Given the description of an element on the screen output the (x, y) to click on. 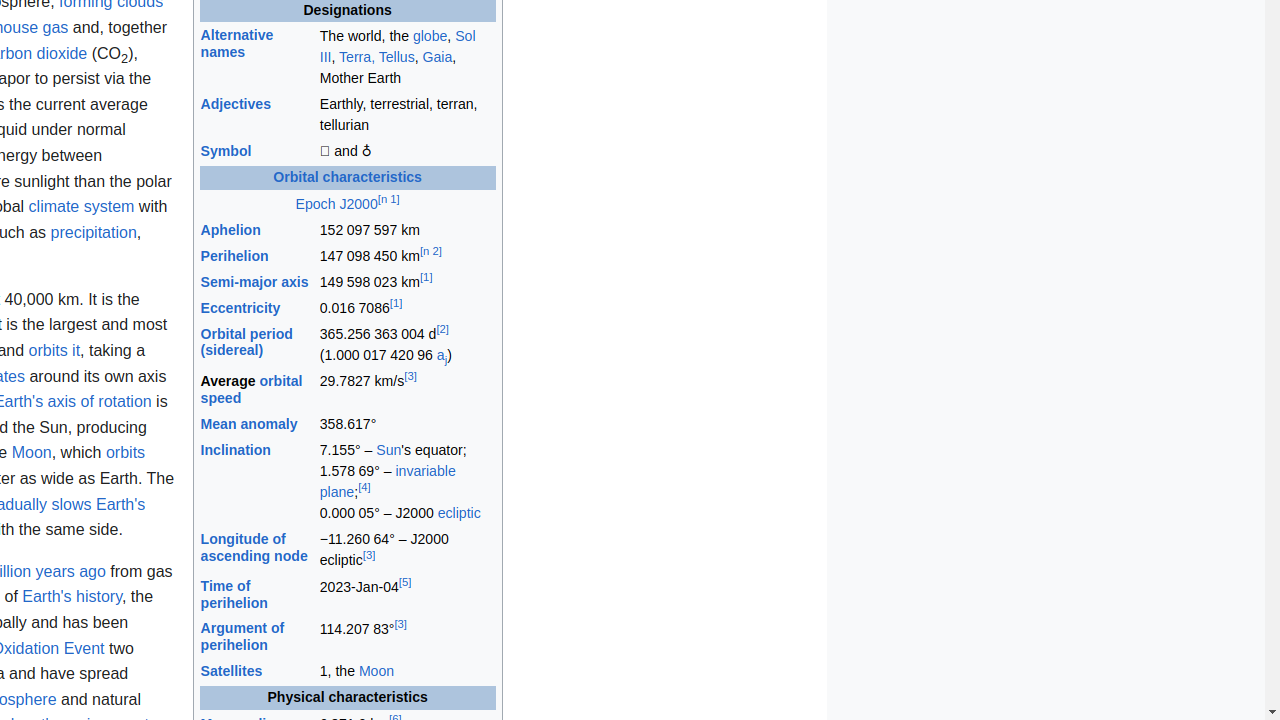
Satellites Element type: link (231, 671)
j Element type: link (446, 355)
[3] Element type: link (410, 376)
Earth's history Element type: link (72, 597)
Moon Element type: link (376, 671)
